Given the description of an element on the screen output the (x, y) to click on. 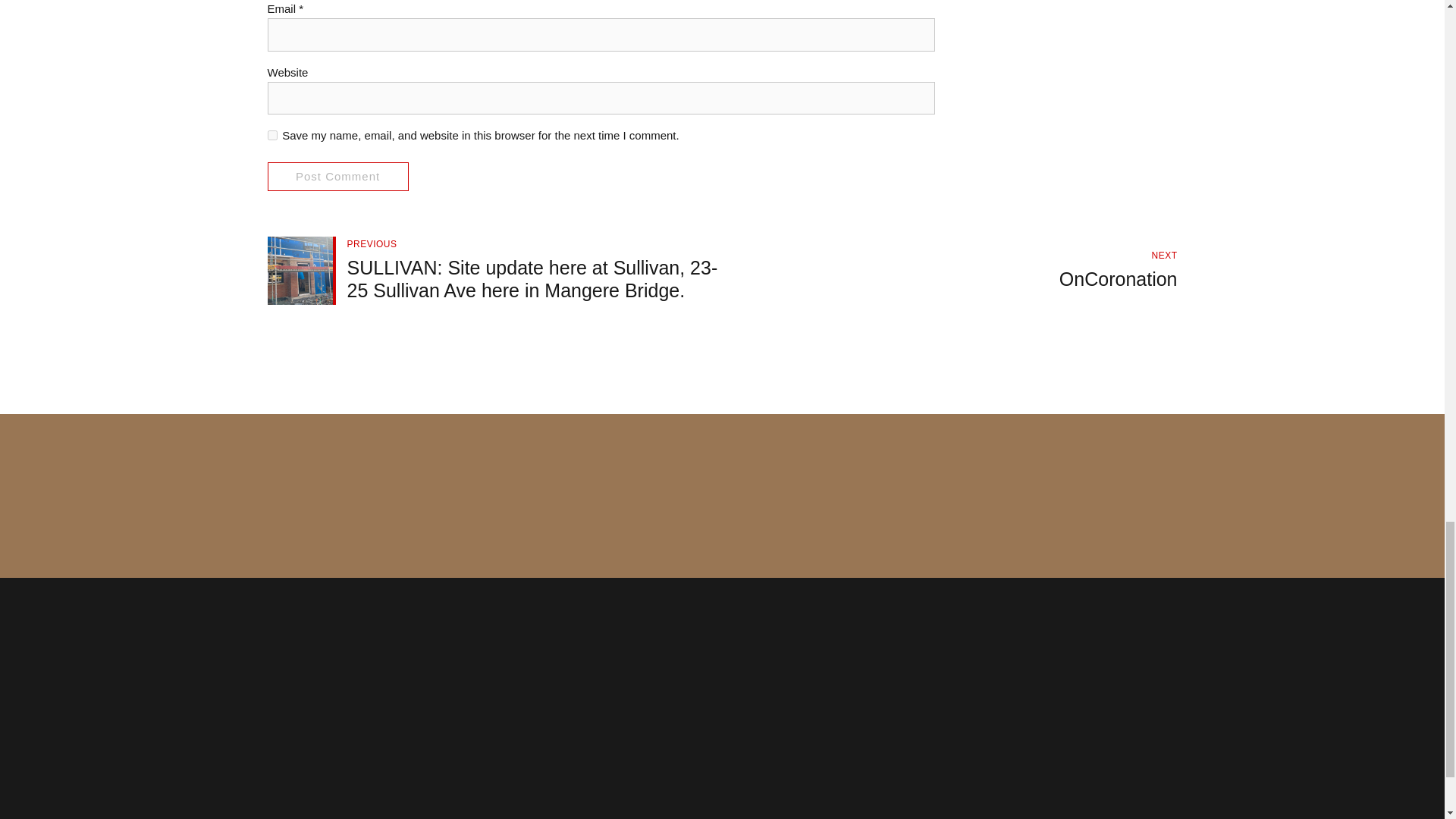
yes (949, 270)
Post Comment (271, 135)
SEND (336, 176)
